Given the description of an element on the screen output the (x, y) to click on. 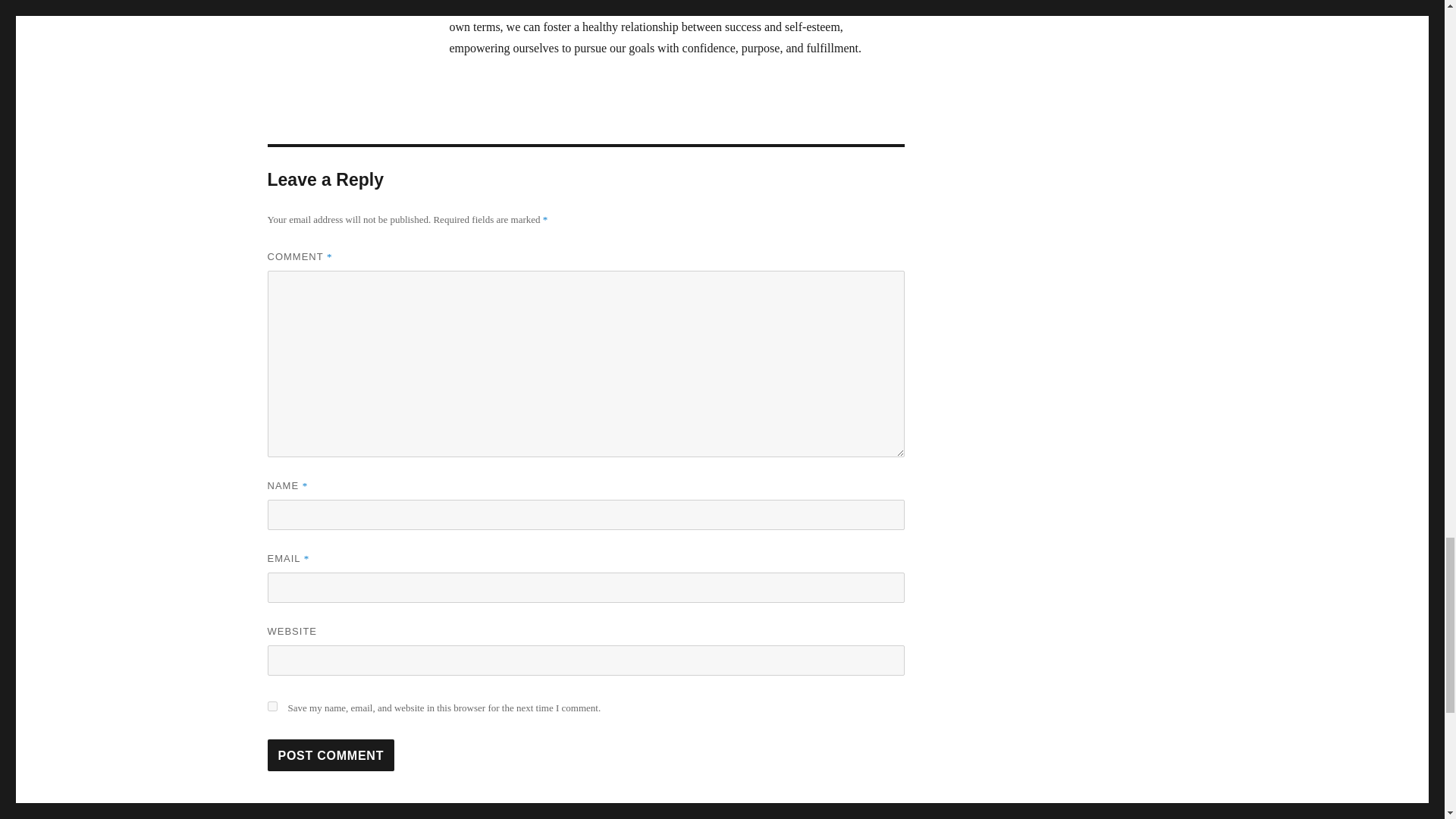
Post Comment (330, 755)
Post Comment (330, 755)
yes (271, 706)
